Given the description of an element on the screen output the (x, y) to click on. 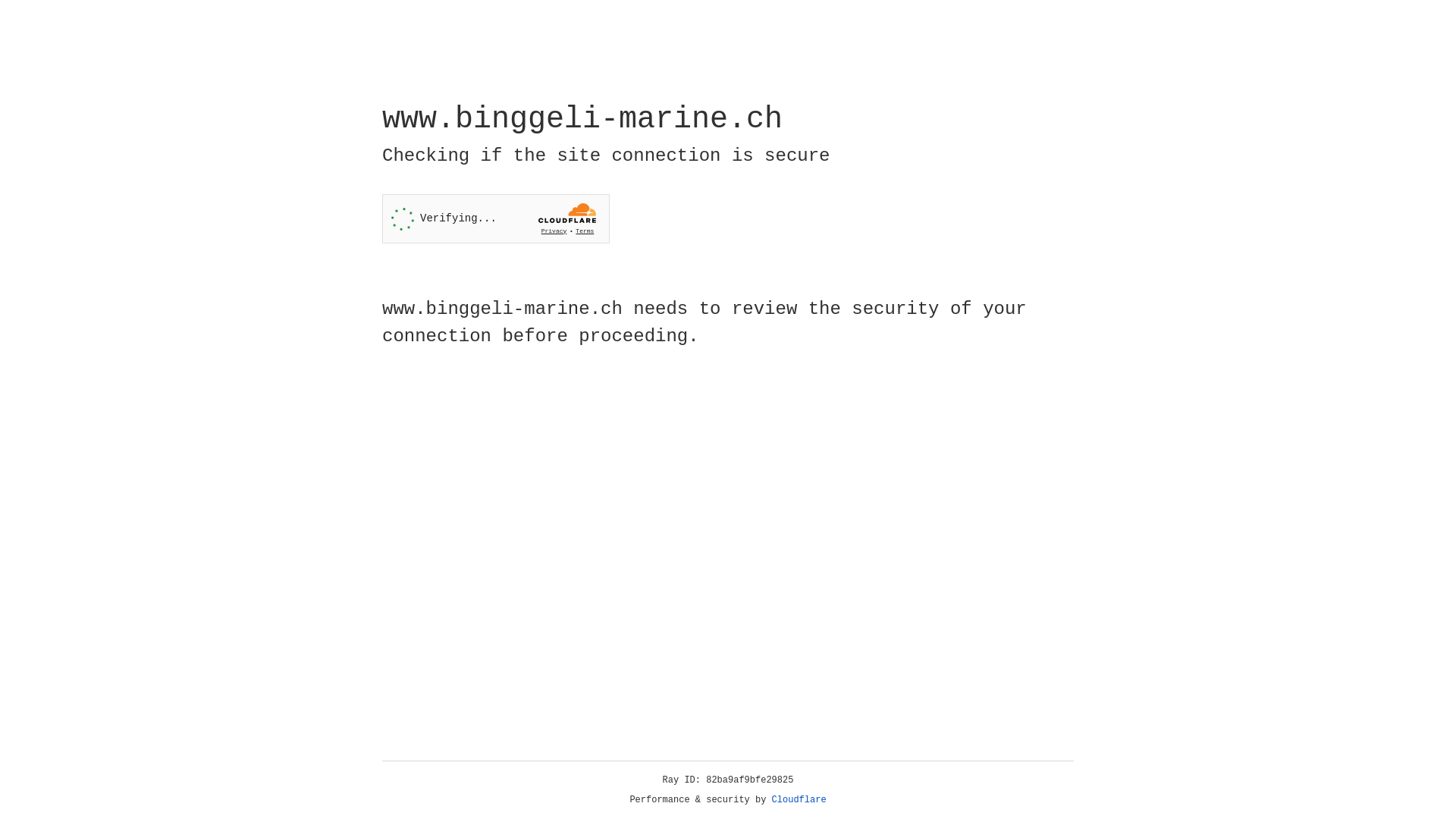
Cloudflare Element type: text (798, 799)
Widget containing a Cloudflare security challenge Element type: hover (495, 218)
